Given the description of an element on the screen output the (x, y) to click on. 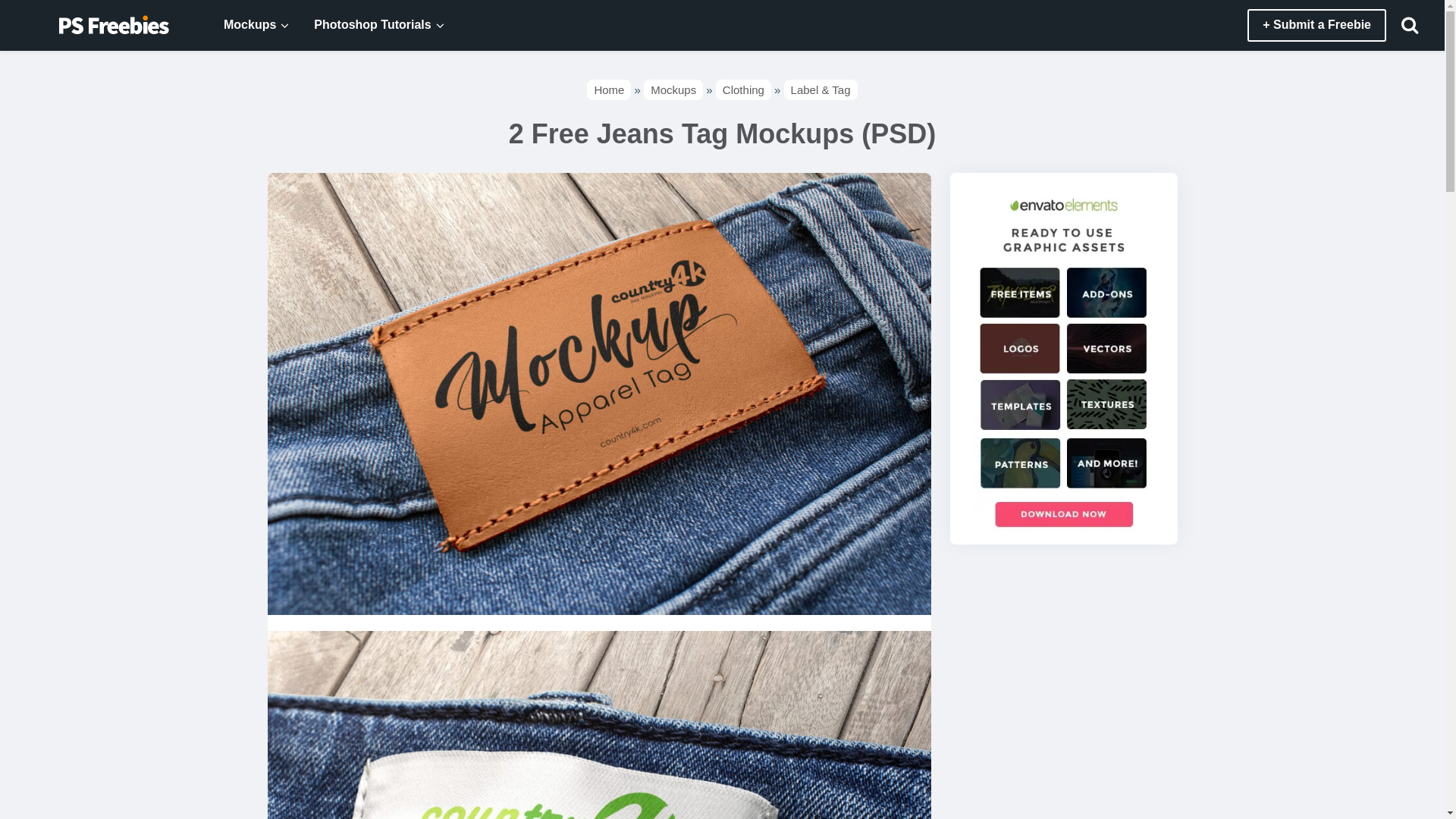
Photoshop Tutorials (364, 25)
Mockups (241, 25)
Home (608, 89)
